Given the description of an element on the screen output the (x, y) to click on. 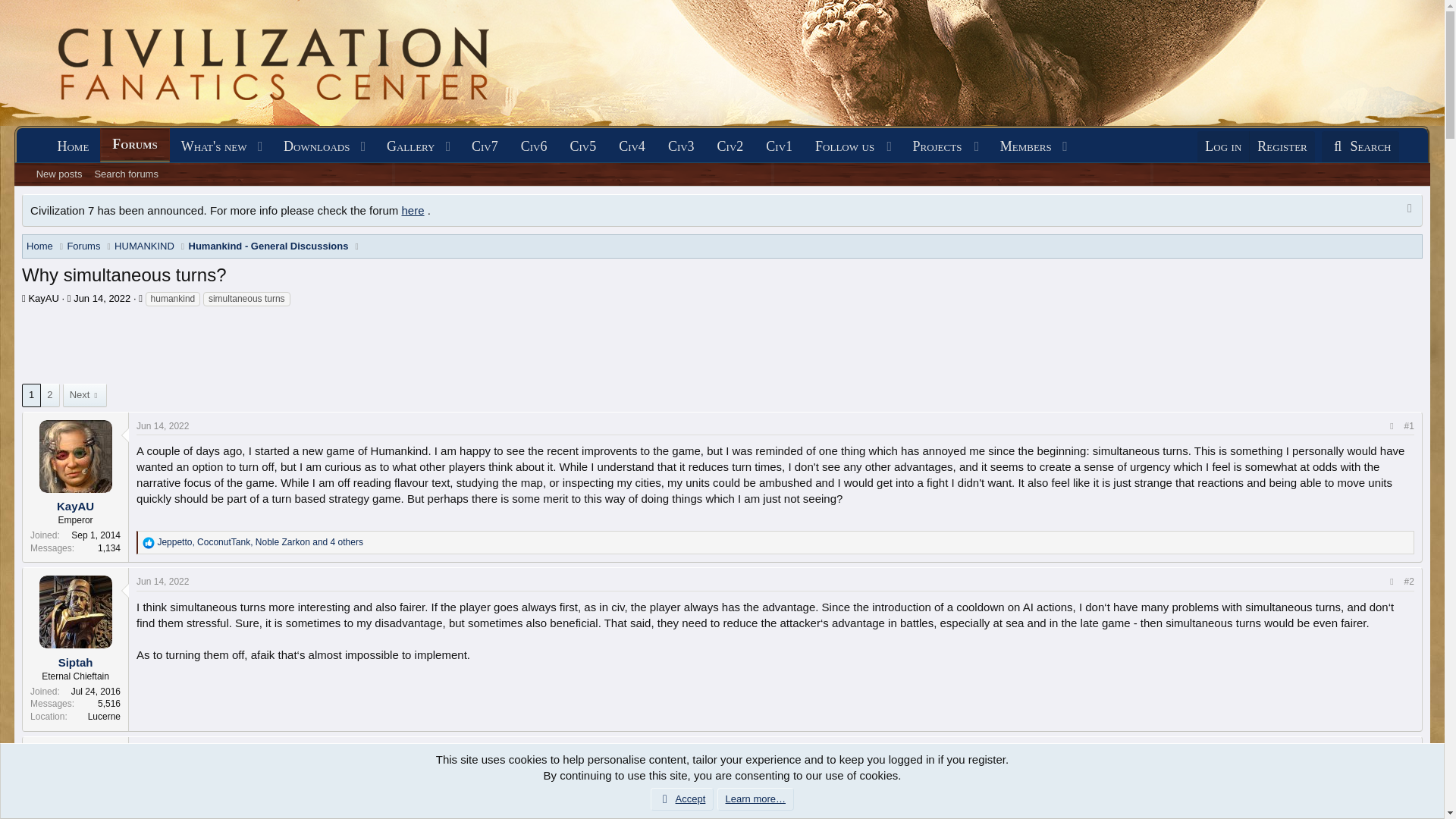
Like (722, 191)
Gallery (148, 542)
Home (405, 146)
Jun 14, 2022 at 4:52 PM (72, 146)
Jun 15, 2022 at 2:03 AM (162, 425)
Jun 14, 2022 at 4:52 PM (162, 750)
Search (102, 297)
Forums (1360, 146)
Jun 14, 2022 at 6:33 PM (134, 143)
Downloads (162, 581)
What's new (311, 146)
